Given the description of an element on the screen output the (x, y) to click on. 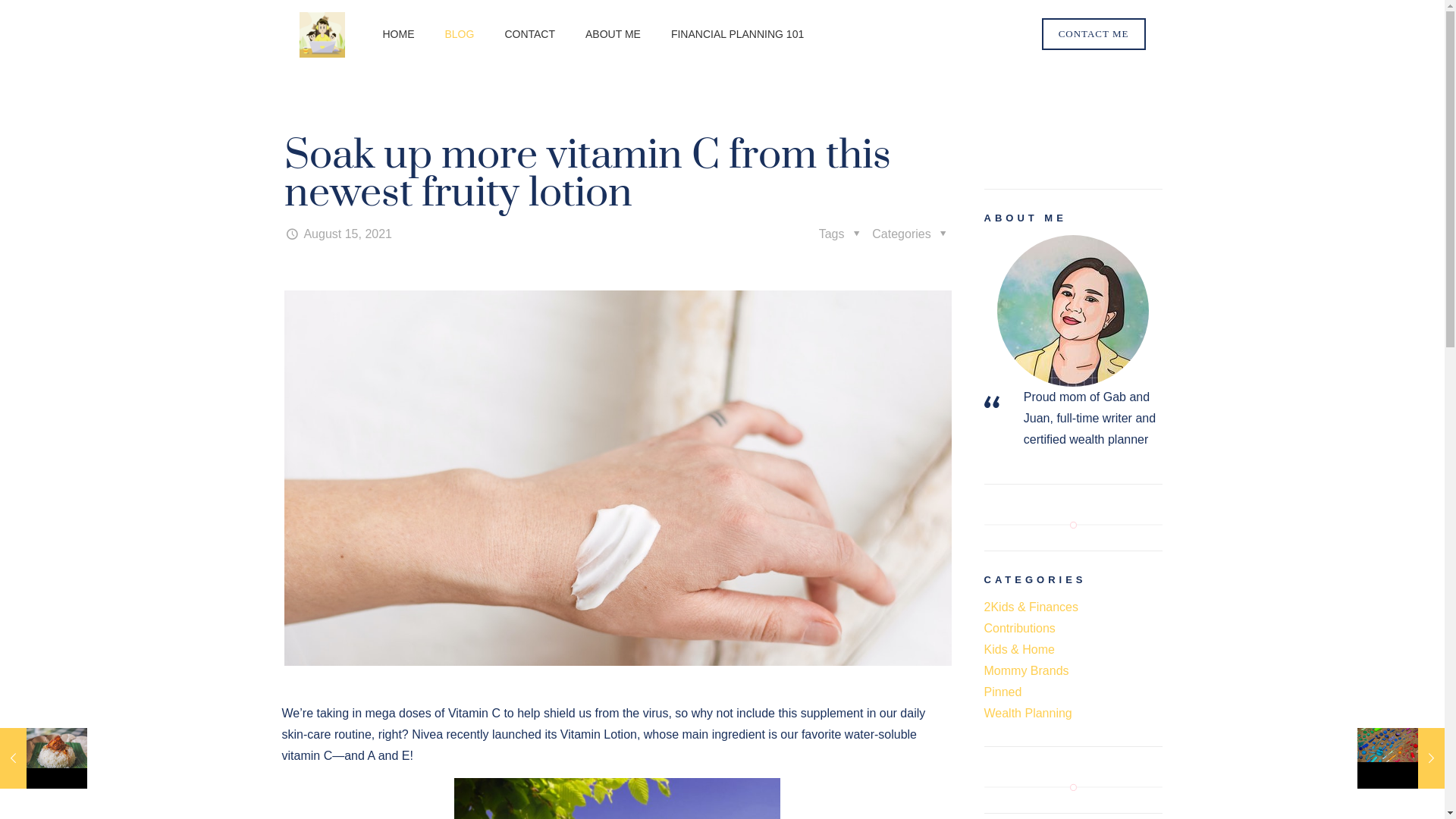
CONTACT ME Element type: text (1093, 34)
HOME Element type: text (398, 34)
2Kids & Finances Element type: text (1031, 606)
Kids & Home Element type: text (1019, 649)
BLOG Element type: text (459, 34)
CONTACT Element type: text (529, 34)
ABOUT ME Element type: text (612, 34)
Two Kids and a Pen Element type: hover (321, 34)
Contributions Element type: text (1019, 627)
Mommy Brands Element type: text (1026, 670)
Pinned Element type: text (1003, 691)
Wealth Planning Element type: text (1028, 712)
FINANCIAL PLANNING 101 Element type: text (737, 34)
